Given the description of an element on the screen output the (x, y) to click on. 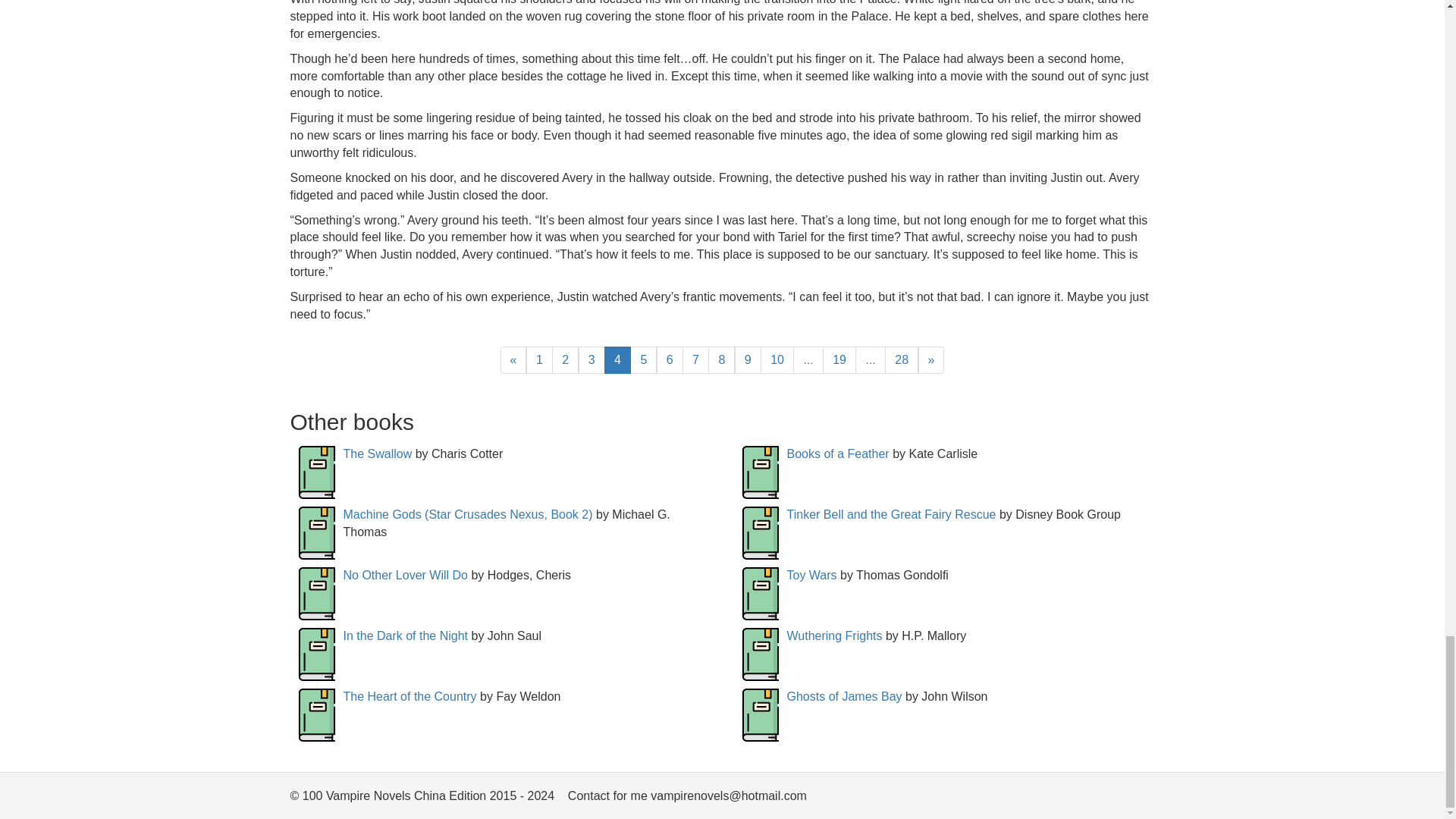
5 (643, 360)
2 (564, 360)
The Swallow (377, 453)
10 (776, 360)
6 (669, 360)
9 (748, 360)
8 (721, 360)
4 (617, 360)
LiveInternet (1142, 799)
19 (839, 360)
